Given the description of an element on the screen output the (x, y) to click on. 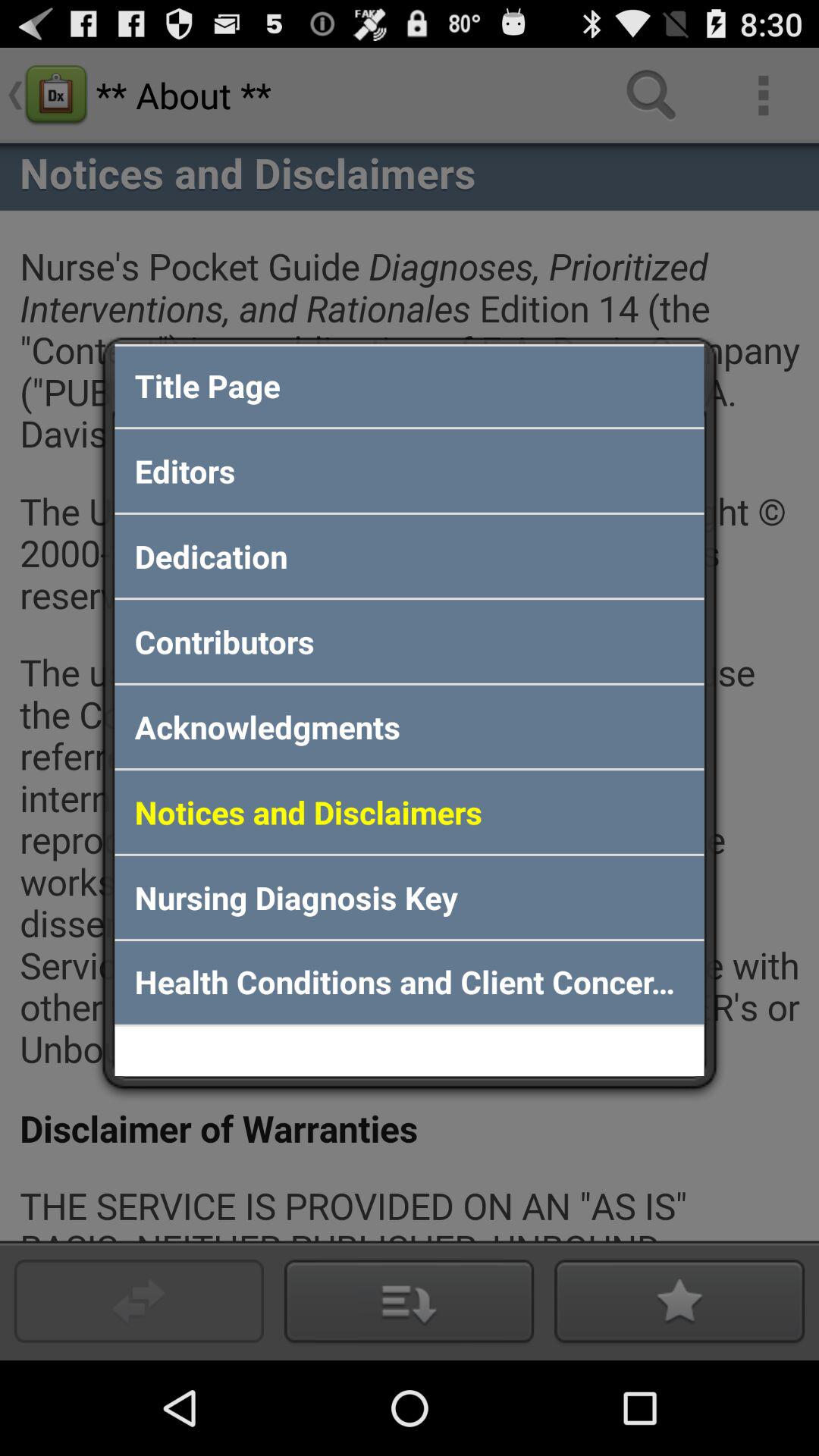
turn on icon above editors item (409, 385)
